Given the description of an element on the screen output the (x, y) to click on. 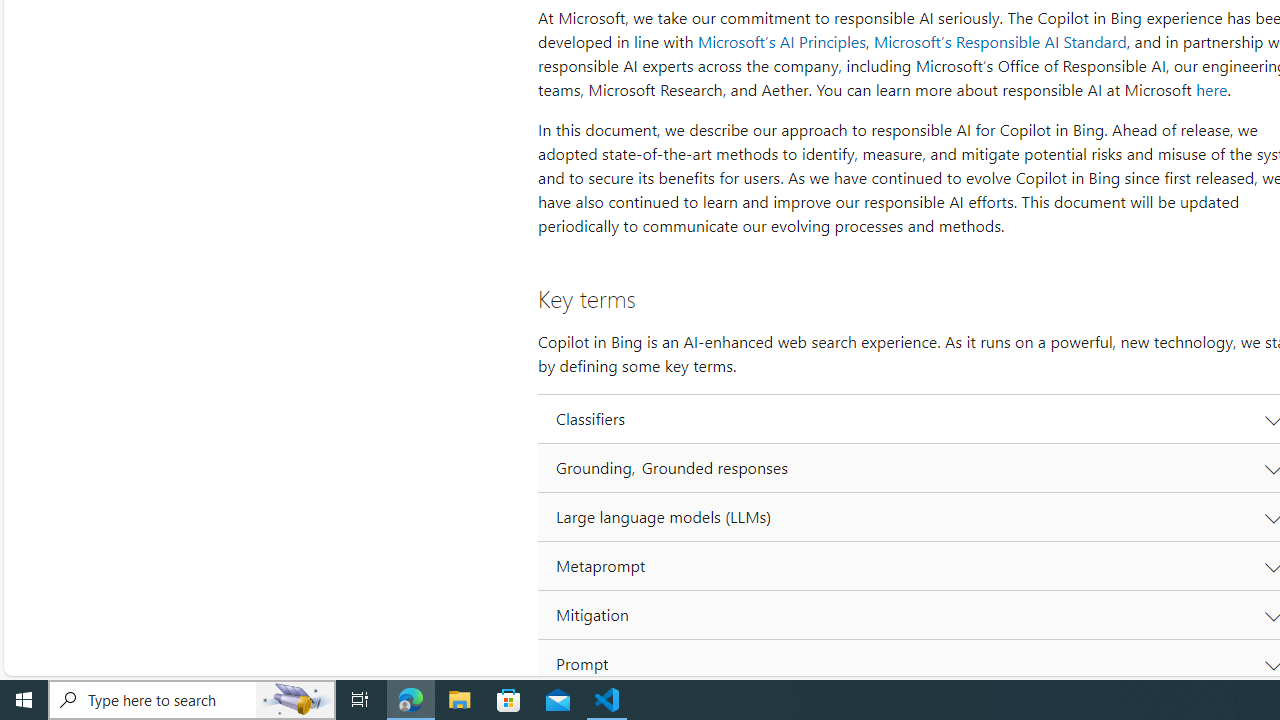
here (1211, 89)
